Given the description of an element on the screen output the (x, y) to click on. 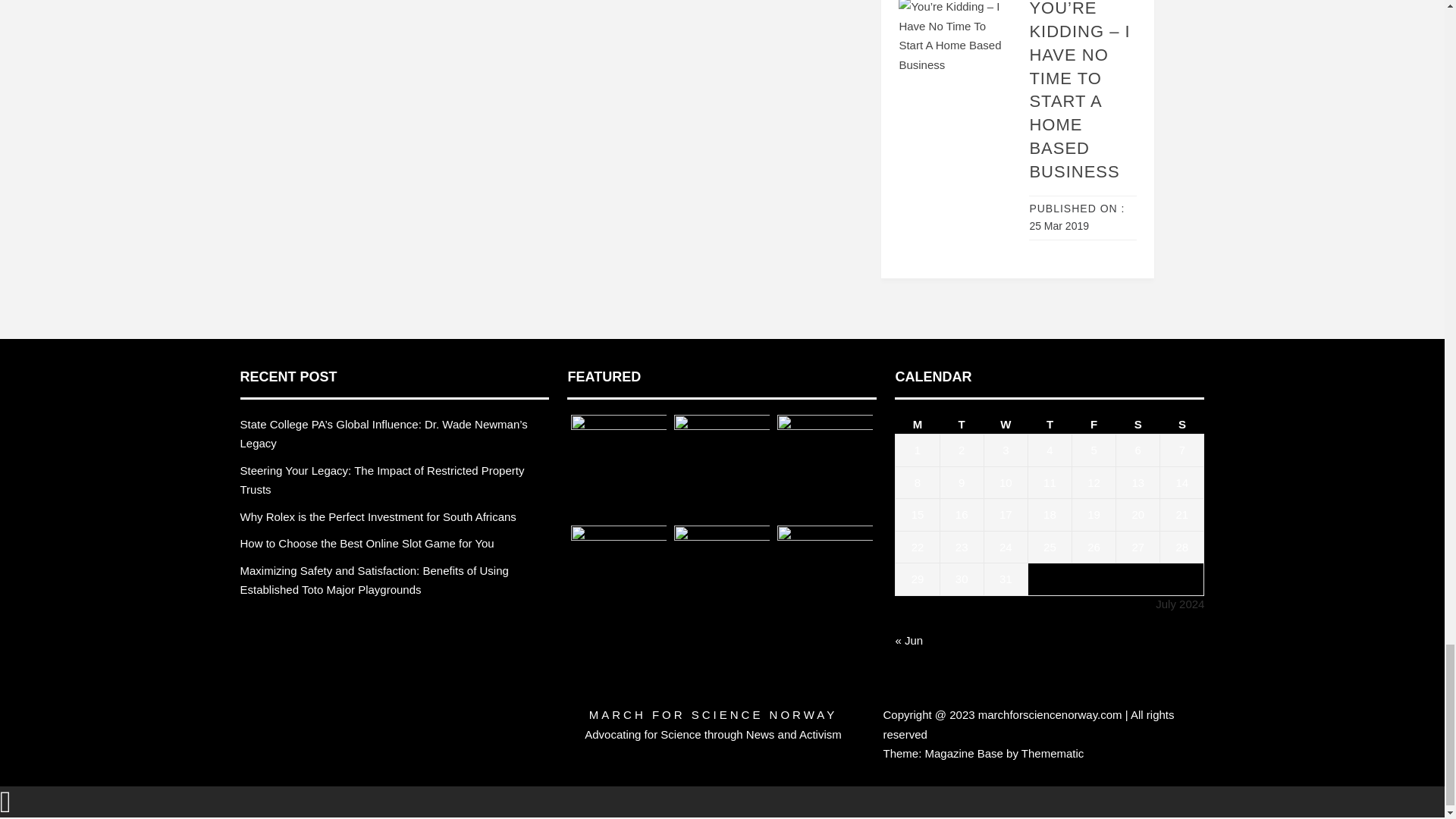
Wednesday (1005, 424)
Monday (917, 424)
Saturday (1138, 424)
Sunday (1182, 424)
Friday (1093, 424)
Thursday (1049, 424)
Tuesday (961, 424)
